Given the description of an element on the screen output the (x, y) to click on. 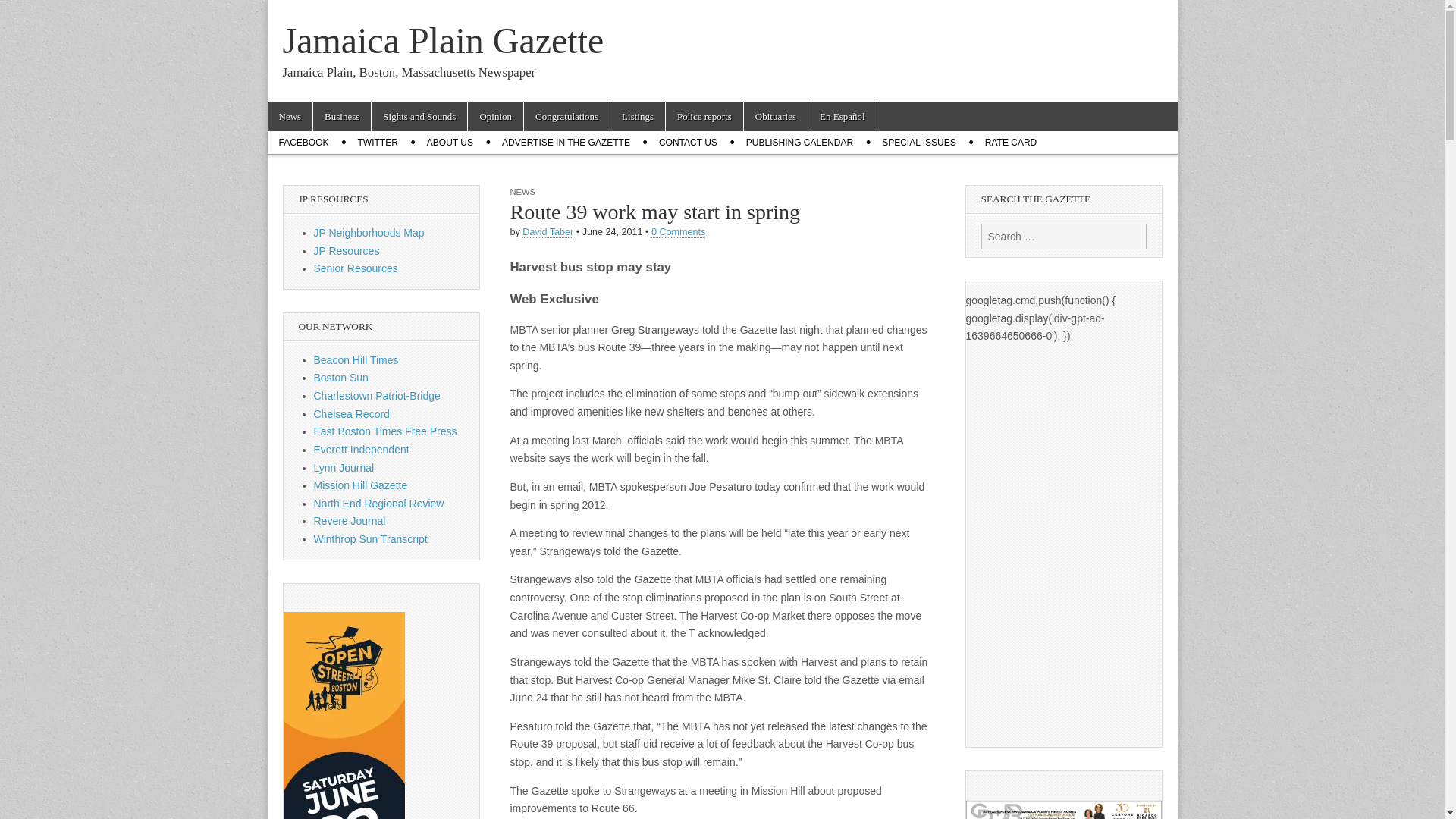
Posts by David Taber (547, 232)
East Boston Times Free Press (385, 431)
SPECIAL ISSUES (919, 142)
ADVERTISE IN THE GAZETTE (566, 142)
ABOUT US (449, 142)
0 Comments (677, 232)
Jamaica Plain Gazette (443, 40)
Listings (637, 116)
JP Neighborhoods Map (369, 232)
Sights and Sounds (419, 116)
News (289, 116)
Beacon Hill Times (356, 359)
Obituaries (776, 116)
Business (342, 116)
David Taber (547, 232)
